Given the description of an element on the screen output the (x, y) to click on. 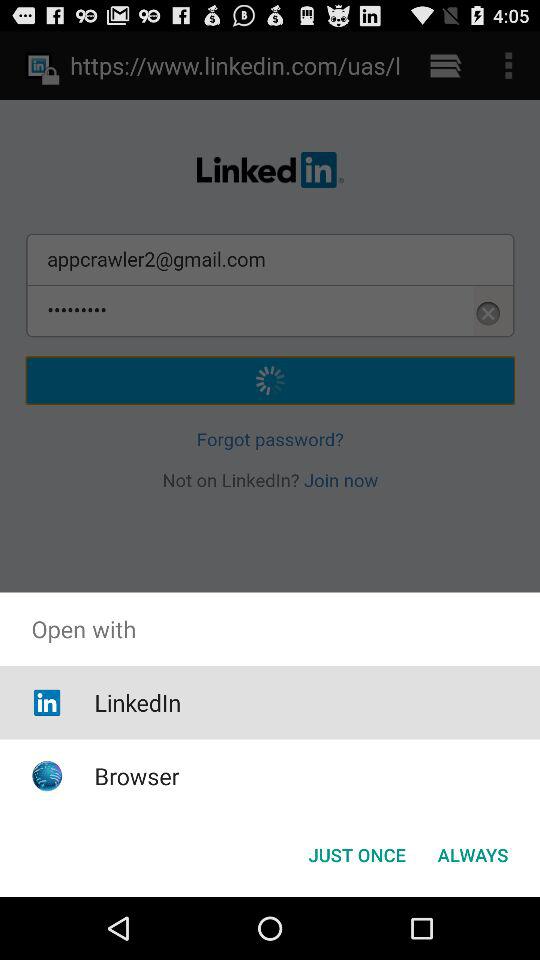
swipe until the always (472, 854)
